Given the description of an element on the screen output the (x, y) to click on. 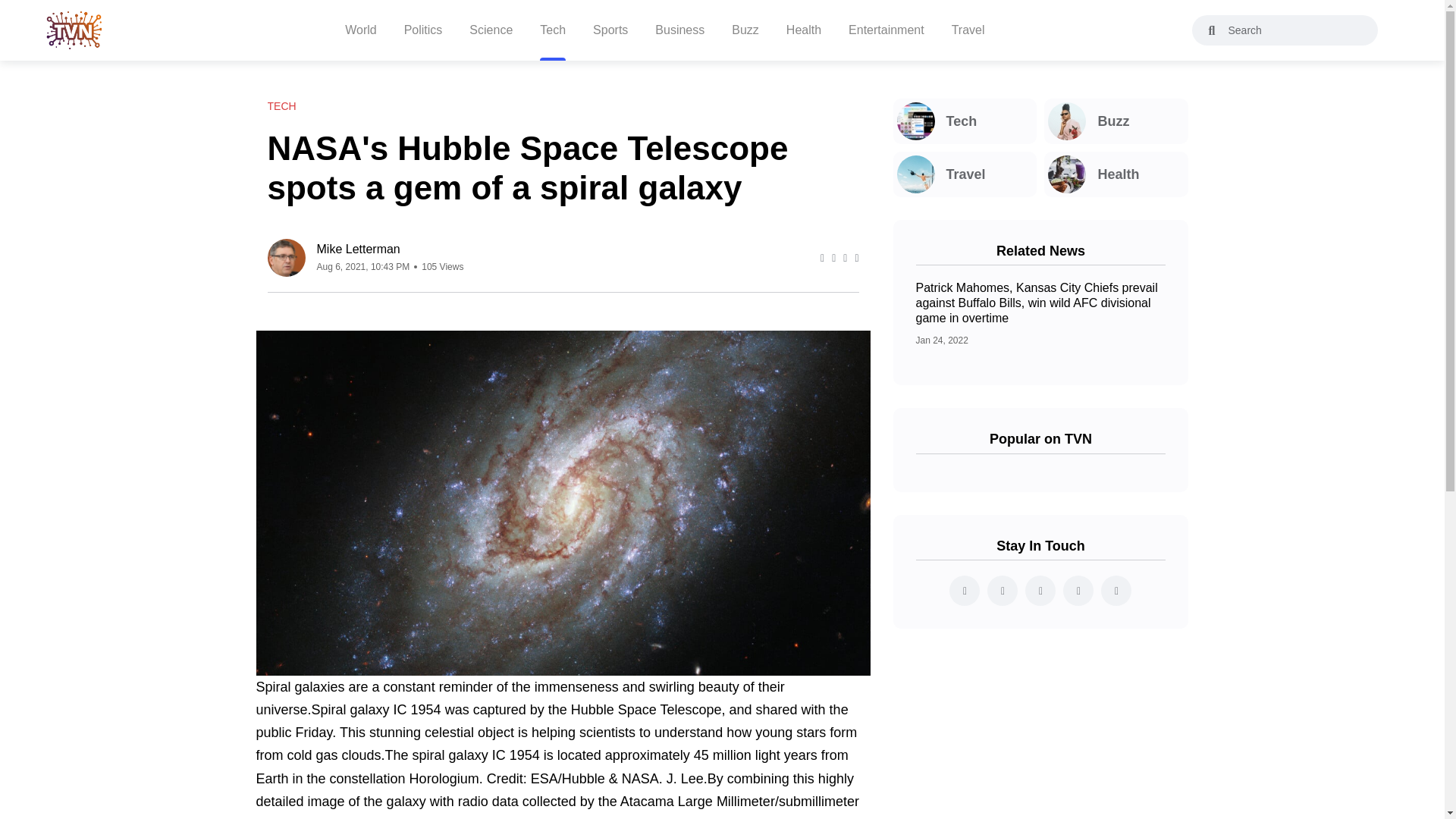
Buzz (1115, 121)
TECH (280, 105)
Tech (964, 121)
Mike Letterman (390, 249)
Travel (964, 174)
Entertainment (886, 30)
